Given the description of an element on the screen output the (x, y) to click on. 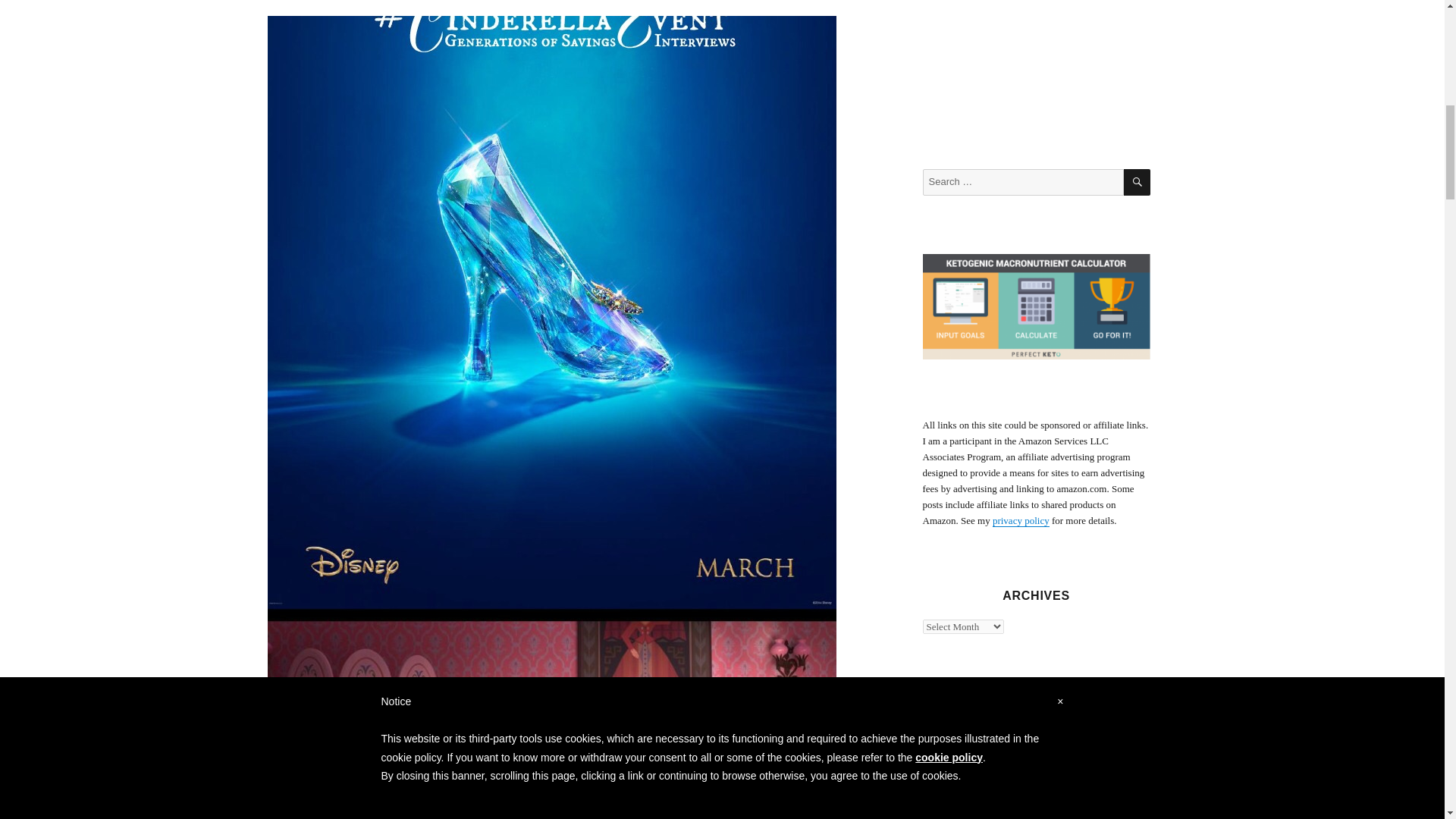
Advertisement (1038, 73)
